Given the description of an element on the screen output the (x, y) to click on. 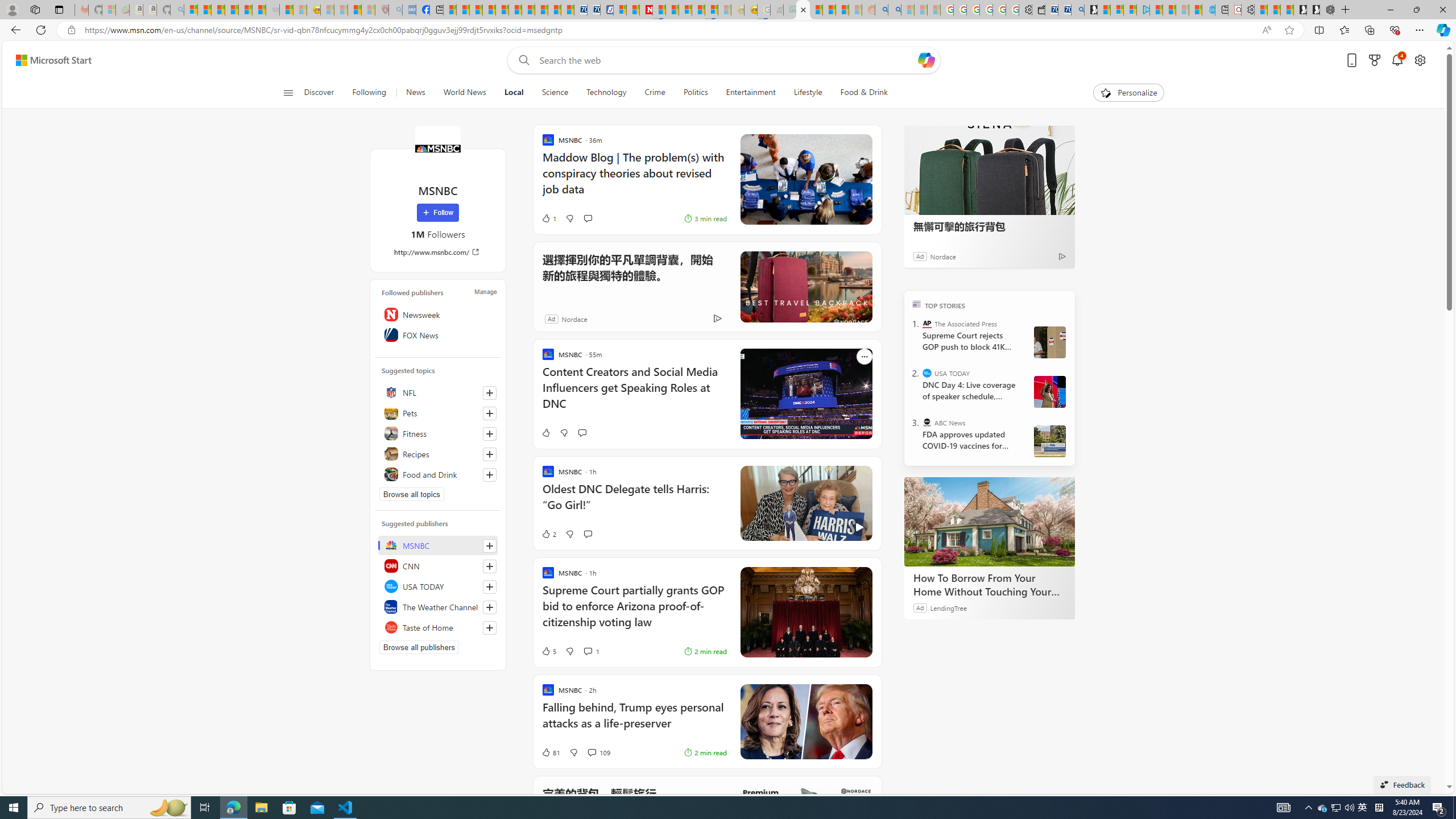
2 Like (547, 533)
Class: hero-image (805, 503)
MSNBC (437, 545)
FOX News (437, 334)
